Given the description of an element on the screen output the (x, y) to click on. 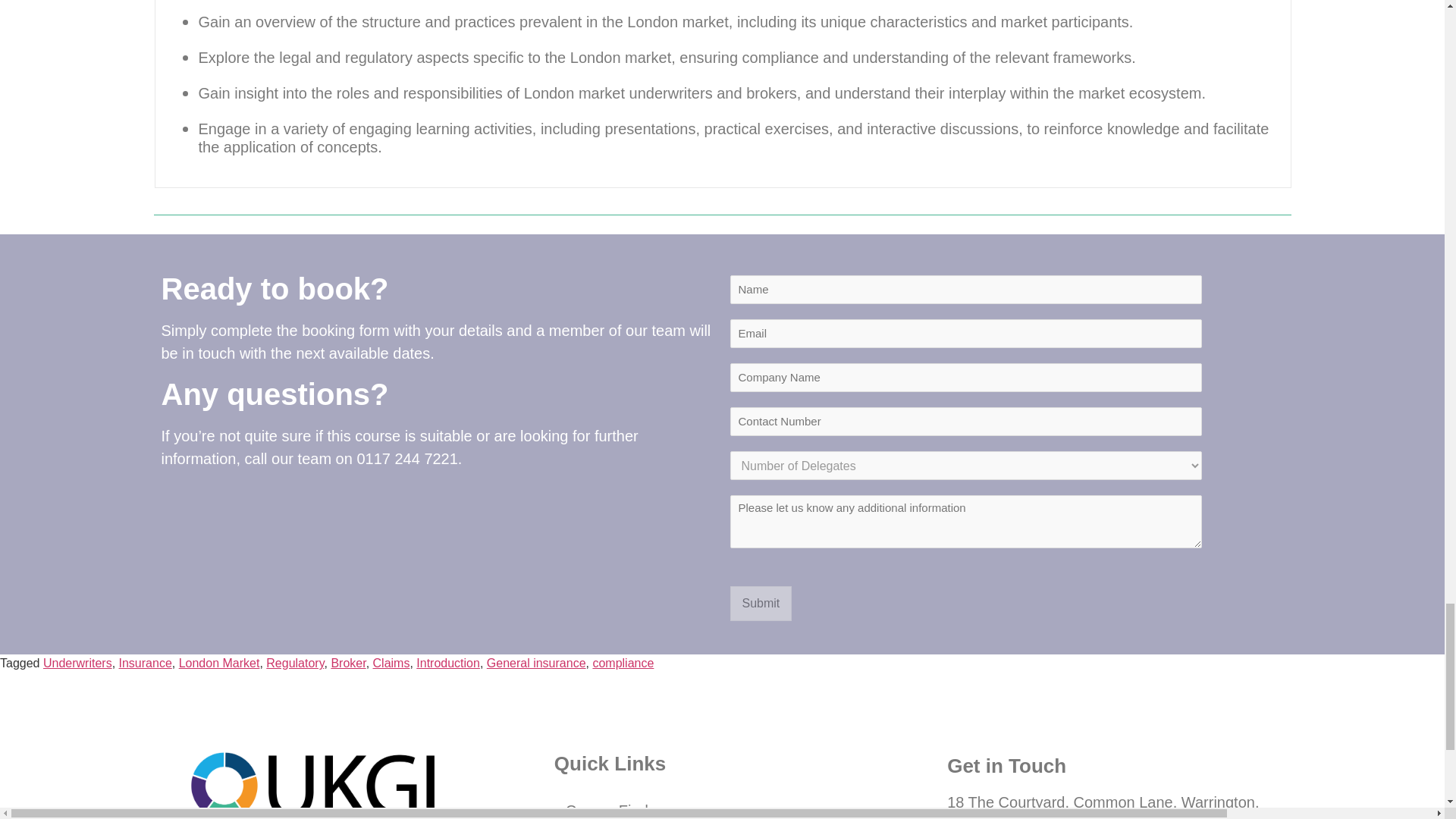
Underwriters (77, 662)
Insurance (145, 662)
Claims (391, 662)
Course Finder (721, 803)
compliance (622, 662)
General insurance (536, 662)
Introduction (448, 662)
London Market (219, 662)
Submit (760, 603)
Regulatory (294, 662)
Broker (347, 662)
